Given the description of an element on the screen output the (x, y) to click on. 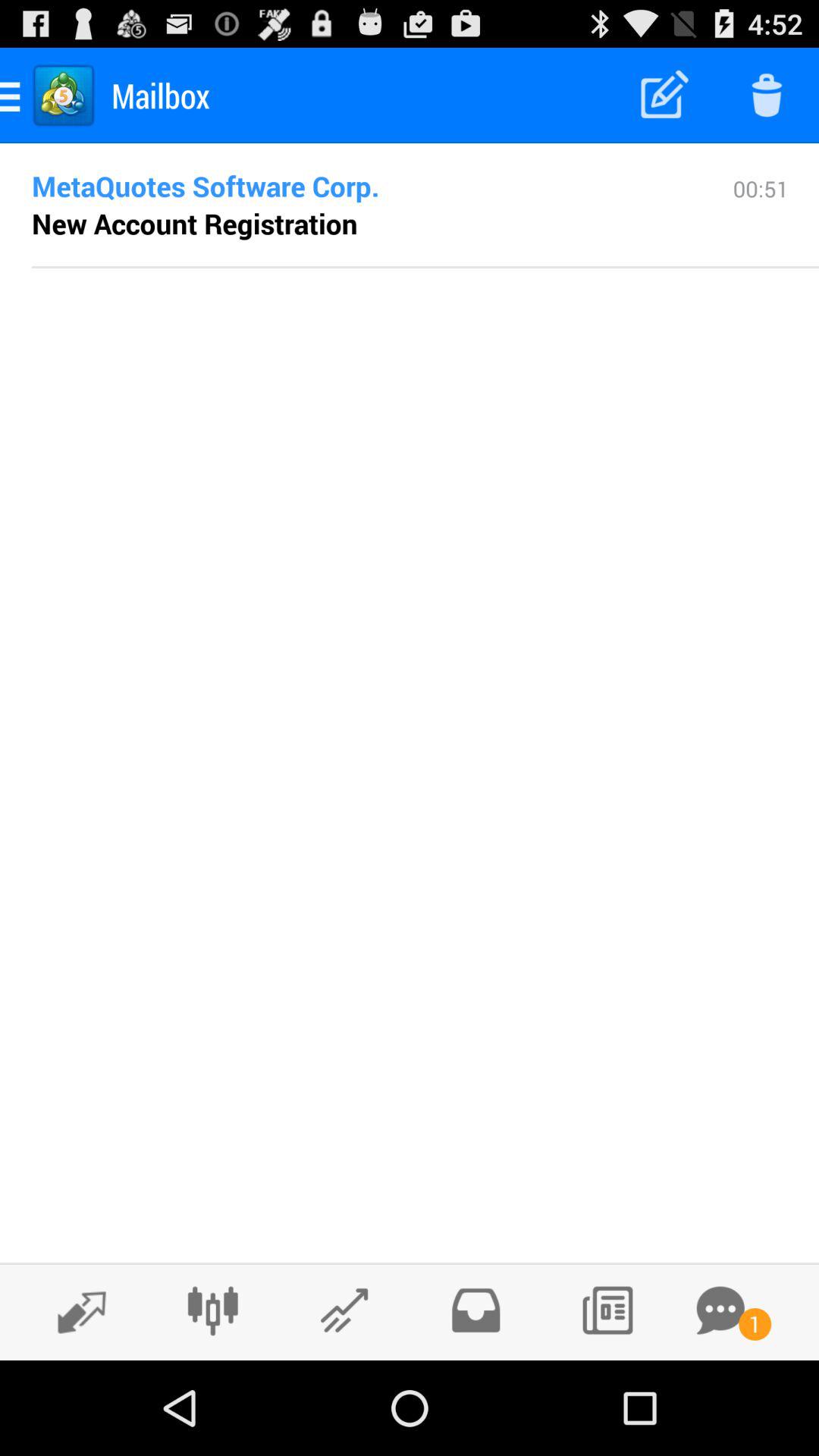
check your messages (720, 1310)
